Given the description of an element on the screen output the (x, y) to click on. 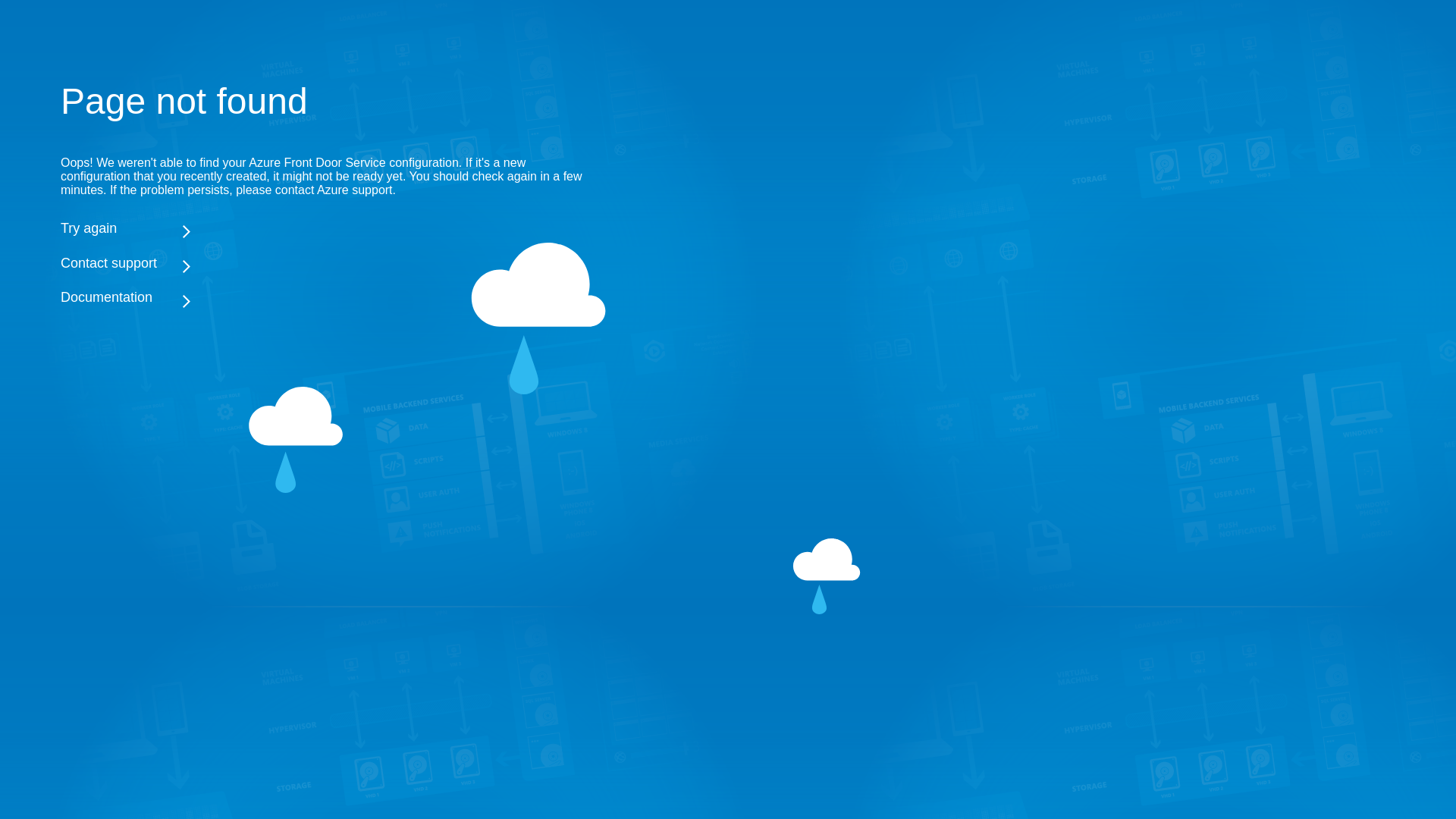
Try again Element type: text (325, 227)
Contact support Element type: text (325, 262)
Documentation Element type: text (325, 297)
